Given the description of an element on the screen output the (x, y) to click on. 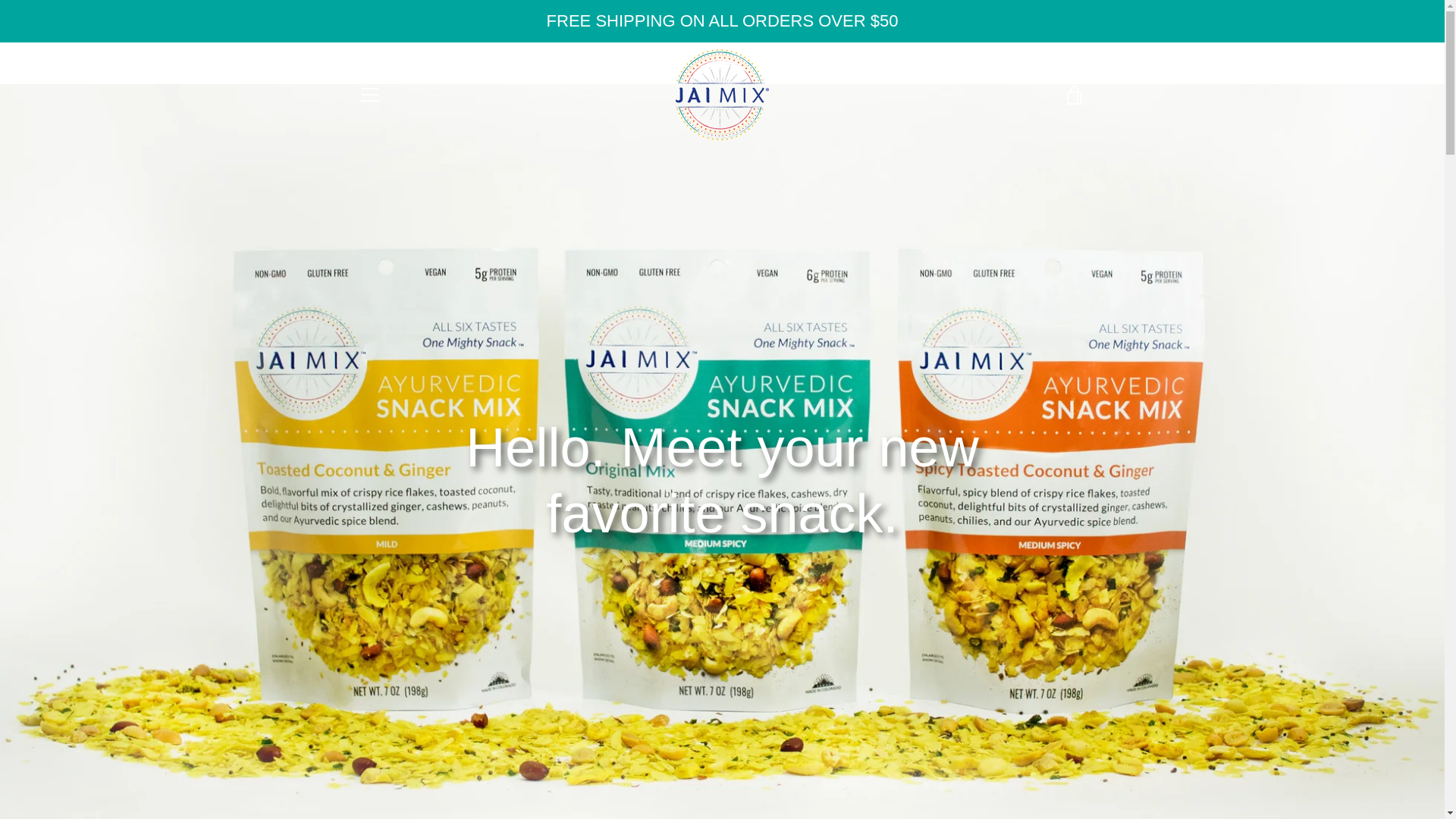
Apple Pay (897, 754)
JAI MIX on Instagram (411, 764)
PayPal (967, 778)
Meta Pay (1002, 754)
JAI MIX (736, 753)
JAI MIX on Pinterest (385, 764)
JAI MIX on Facebook (357, 764)
VIEW CART (1074, 94)
Powered by Shopify (764, 765)
Google Pay (1037, 754)
Diners Club (932, 754)
Venmo (1037, 778)
MENU (369, 94)
Instagram (411, 764)
